Given the description of an element on the screen output the (x, y) to click on. 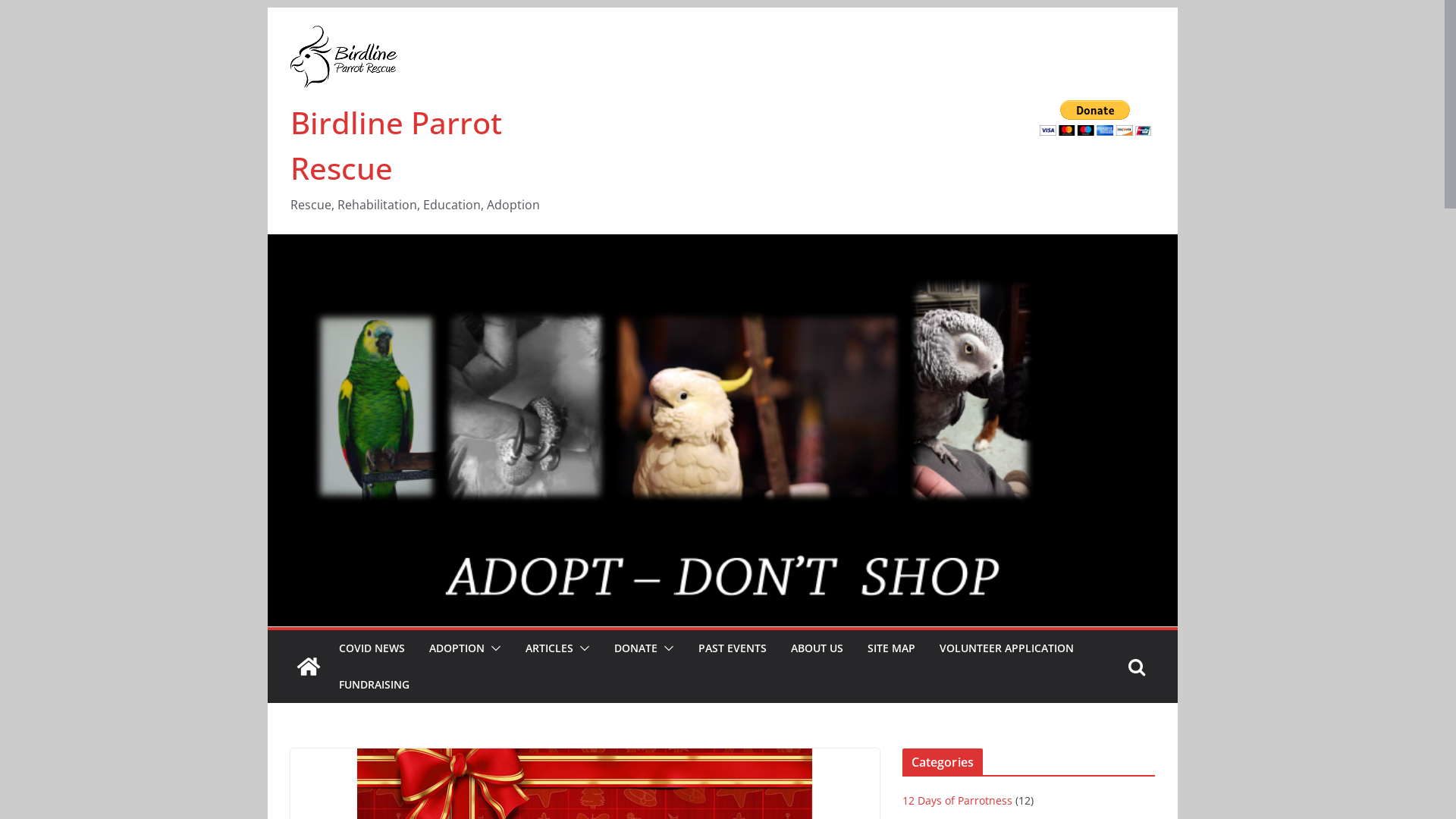
Birdline Parrot Rescue Element type: text (395, 144)
PAST EVENTS Element type: text (731, 647)
FUNDRAISING Element type: text (373, 684)
COVID NEWS Element type: text (371, 647)
Birdline Parrot Rescue Element type: hover (721, 244)
ARTICLES Element type: text (548, 647)
ABOUT US Element type: text (816, 647)
SITE MAP Element type: text (891, 647)
12 Days of Parrotness Element type: text (957, 800)
VOLUNTEER APPLICATION Element type: text (1005, 647)
Birdline Parrot Rescue Element type: hover (307, 666)
Skip to content Element type: text (266, 6)
ADOPTION Element type: text (456, 647)
DONATE Element type: text (635, 647)
